Given the description of an element on the screen output the (x, y) to click on. 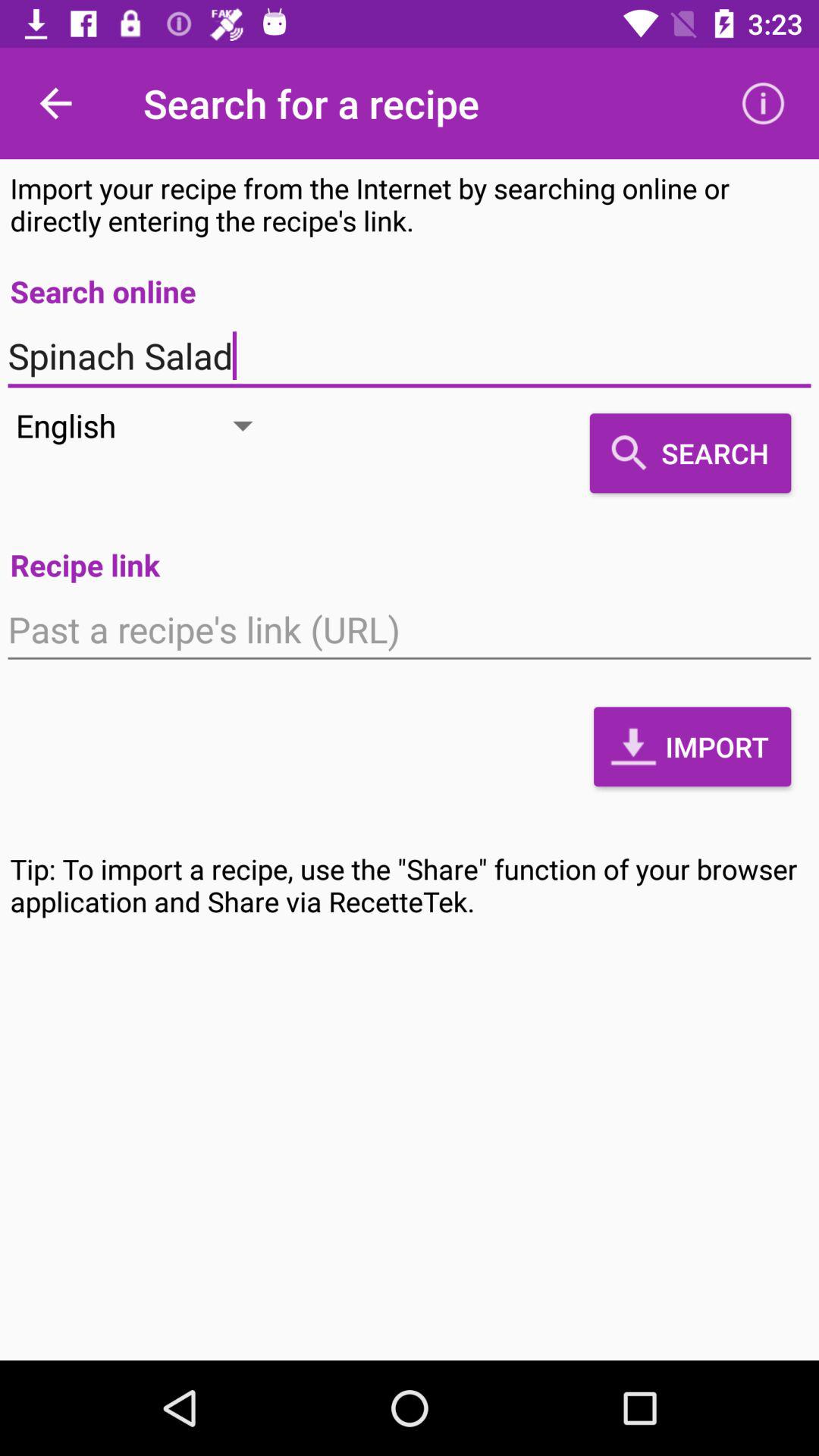
blank space (409, 630)
